Given the description of an element on the screen output the (x, y) to click on. 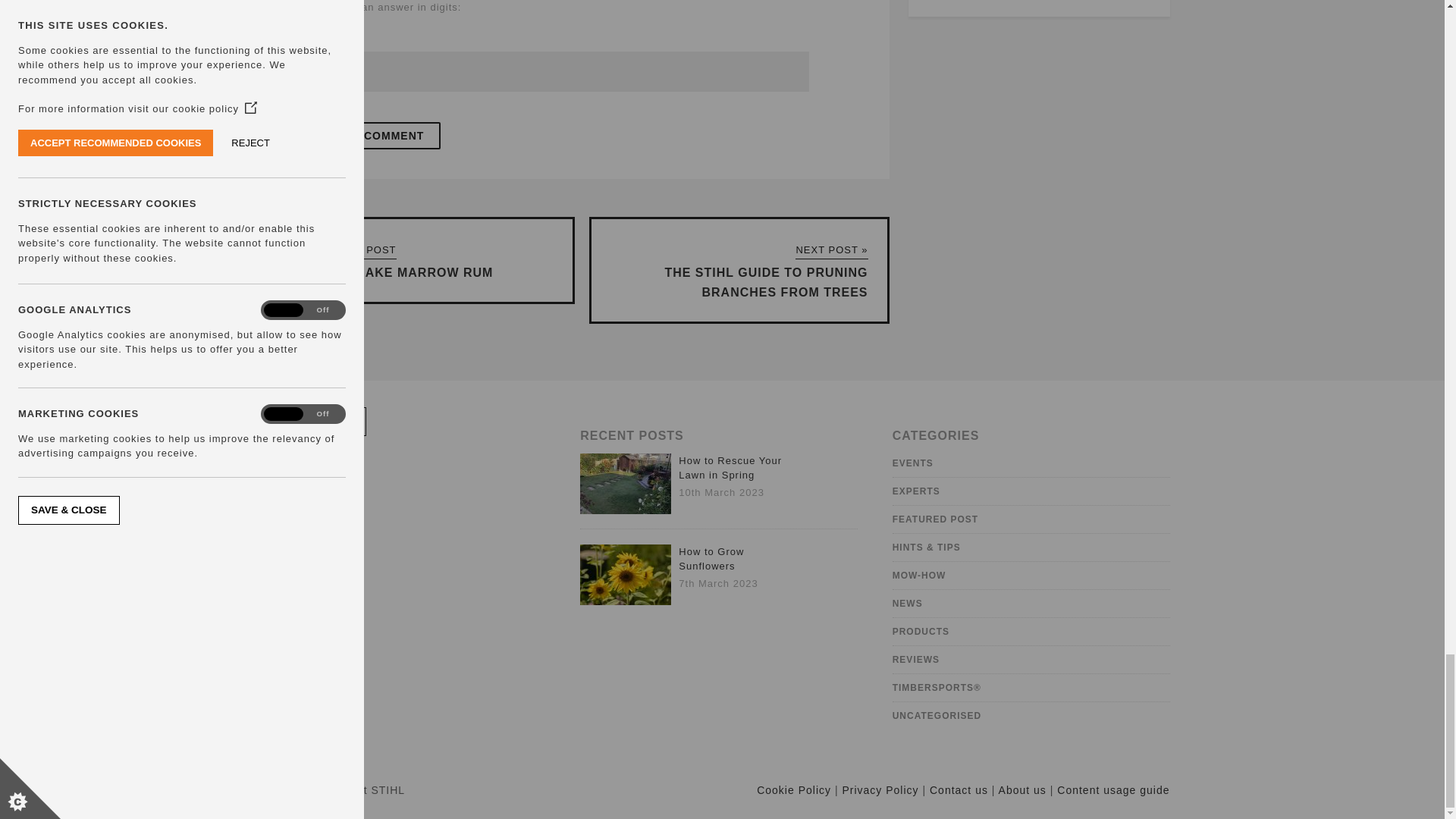
Leave a Comment (367, 135)
